Given the description of an element on the screen output the (x, y) to click on. 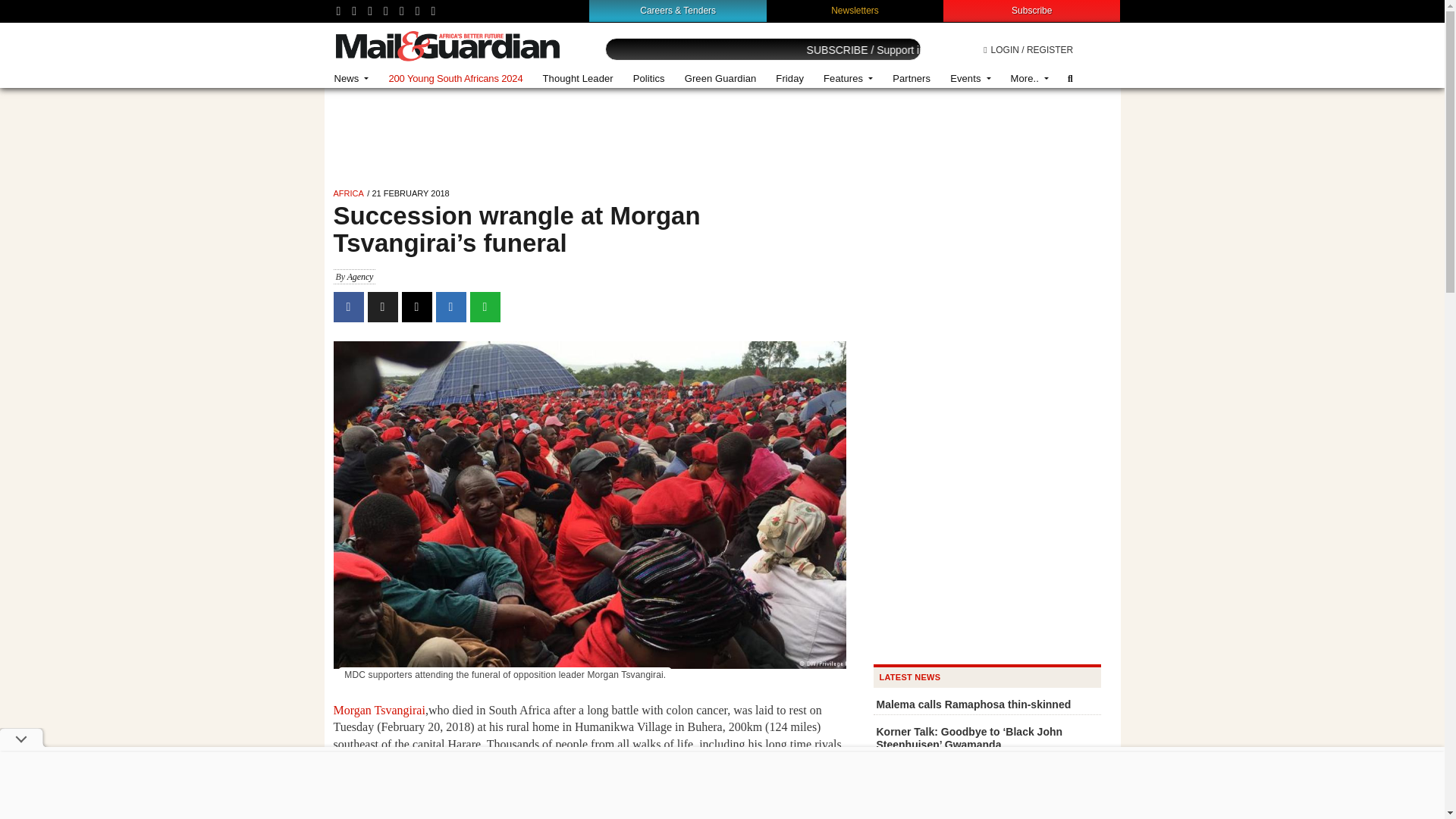
News (351, 78)
Thought Leader (577, 78)
Green Guardian (721, 78)
Friday (789, 78)
Politics (649, 78)
Newsletters (855, 9)
News (351, 78)
Subscribe (1031, 9)
200 Young South Africans 2024 (455, 78)
